Given the description of an element on the screen output the (x, y) to click on. 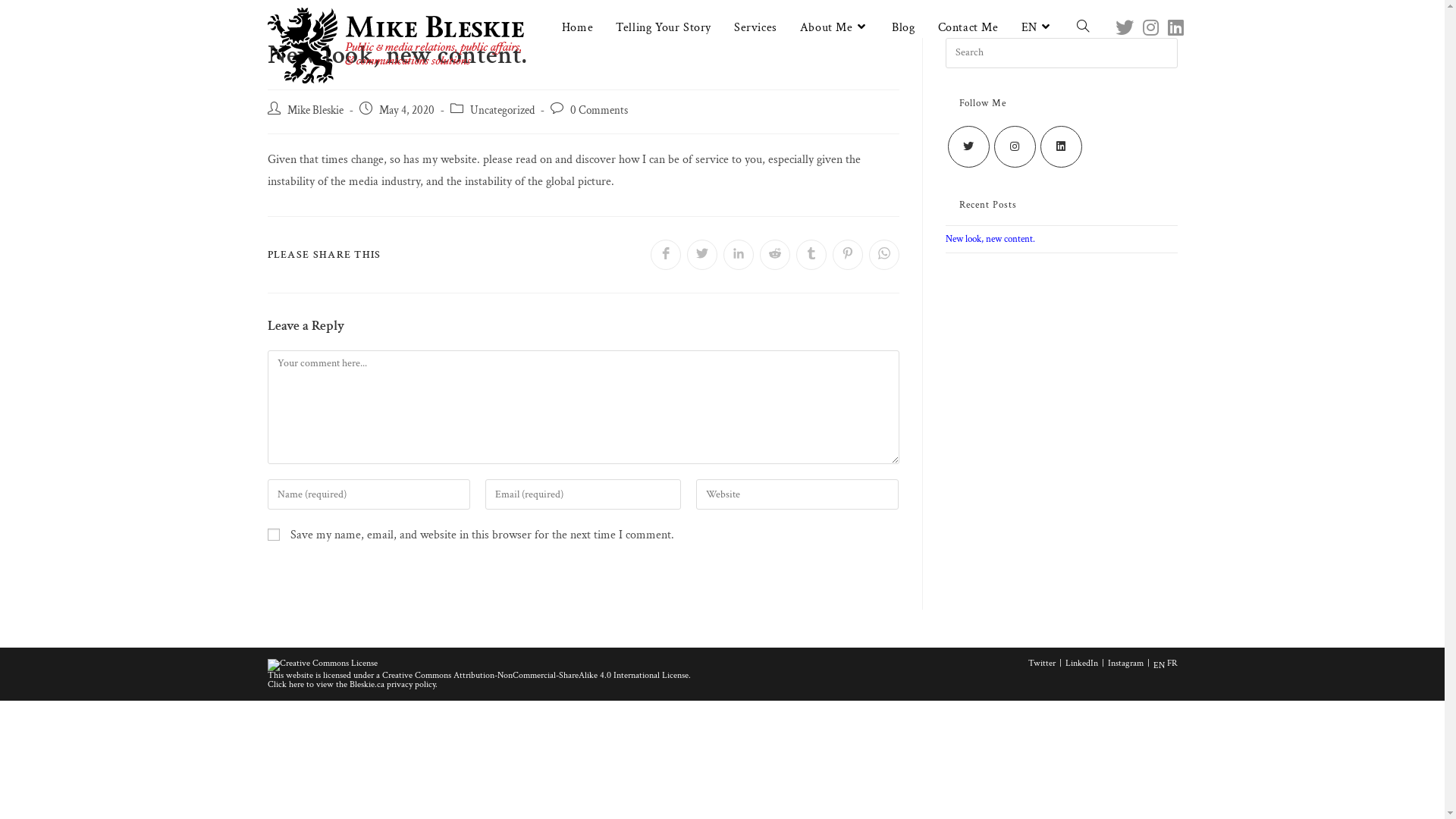
Twitter Element type: text (1041, 662)
Uncategorized Element type: text (502, 110)
EN Element type: text (1158, 665)
Contact Me Element type: text (968, 28)
New look, new content. Element type: text (989, 238)
0 Comments Element type: text (598, 110)
EN Element type: text (1037, 28)
here Element type: text (295, 684)
LinkedIn Element type: text (1080, 662)
Blog Element type: text (902, 28)
Mike Bleskie Element type: text (314, 110)
Services Element type: text (755, 28)
About Me Element type: text (834, 28)
Home Element type: text (577, 28)
Instagram Element type: text (1124, 662)
FR Element type: text (1171, 662)
Post Comment Element type: text (843, 579)
Telling Your Story Element type: text (663, 28)
